Given the description of an element on the screen output the (x, y) to click on. 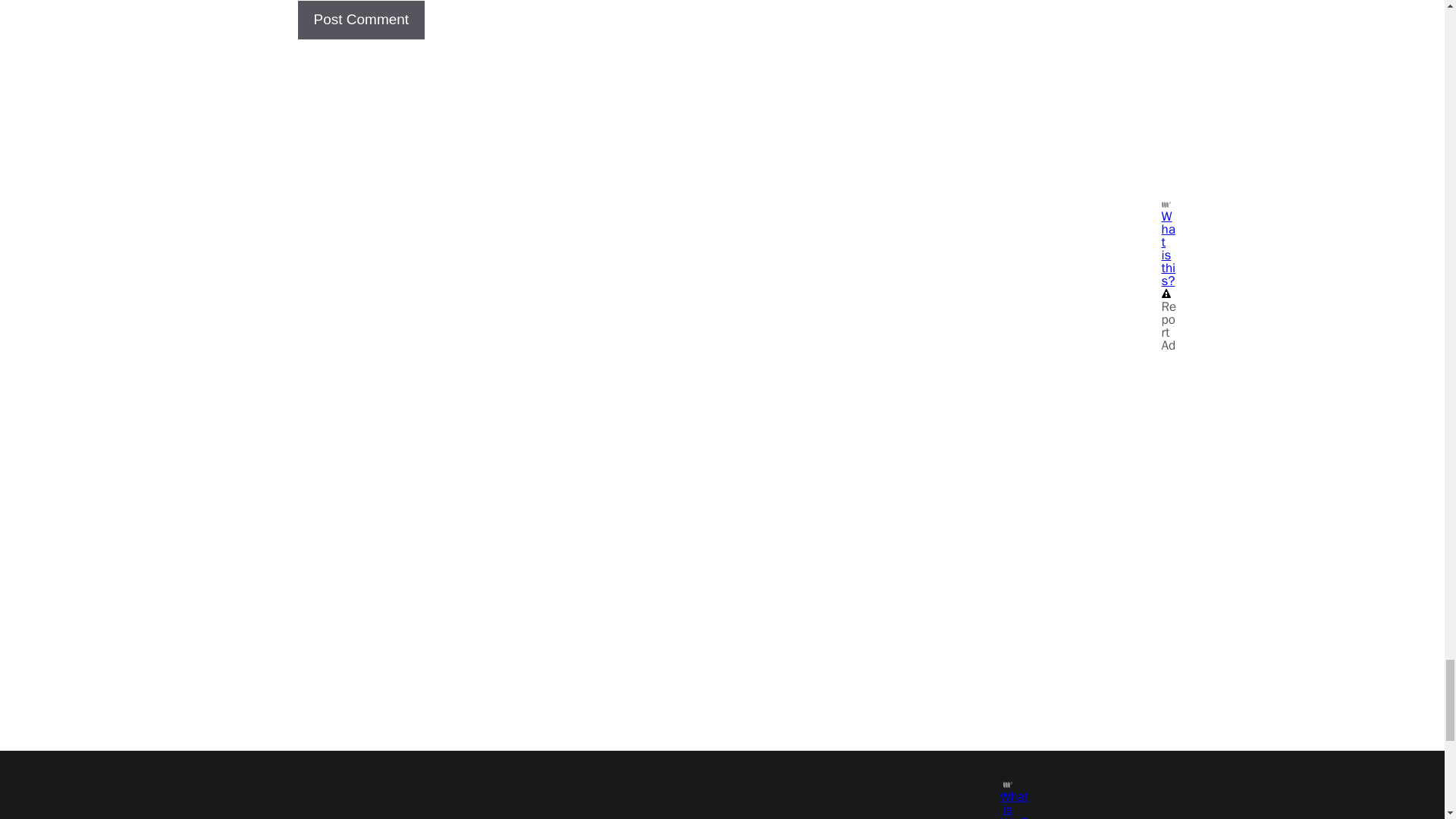
Post Comment (361, 19)
